Given the description of an element on the screen output the (x, y) to click on. 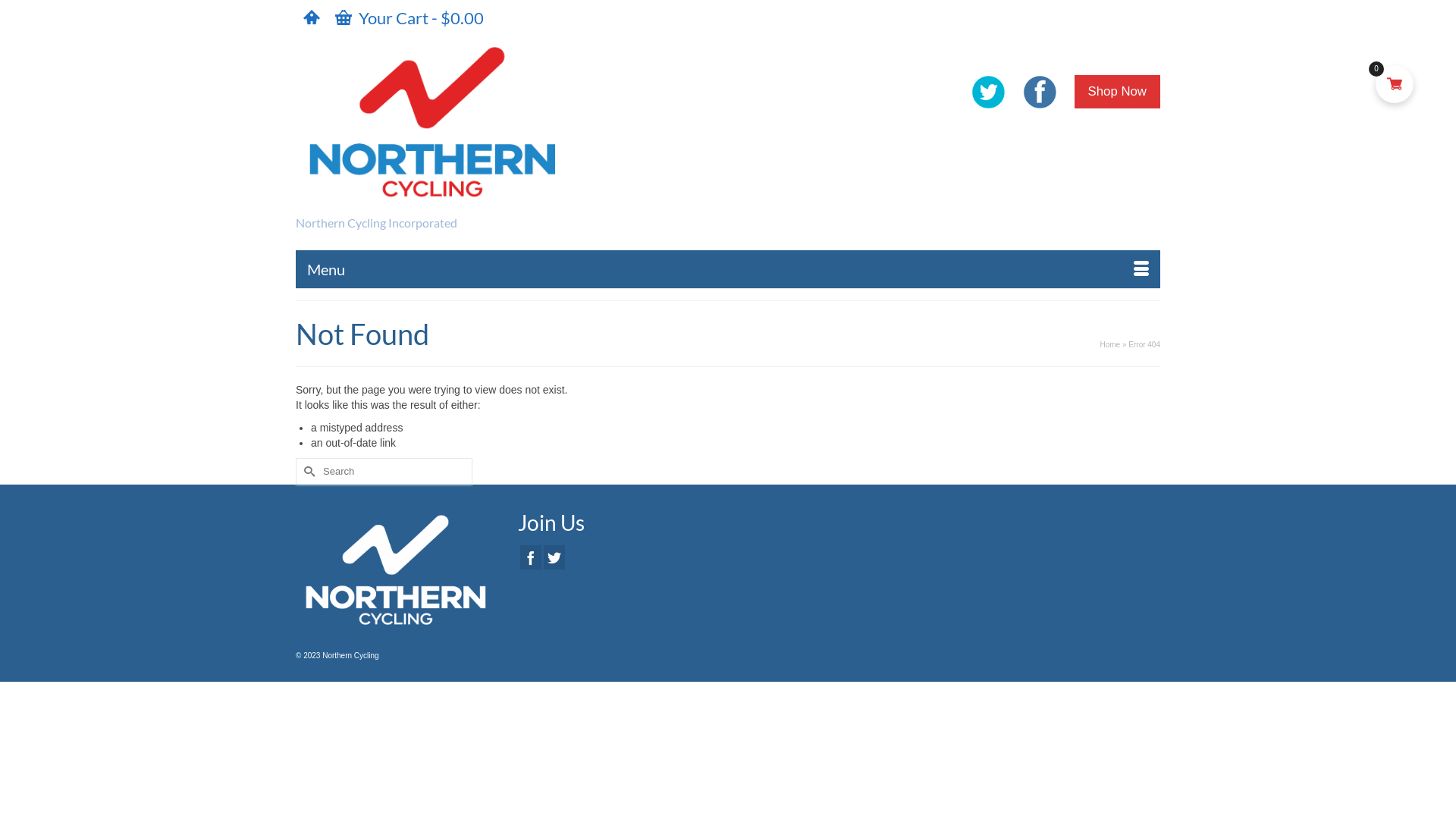
Menu Element type: text (727, 269)
Shop Now Element type: text (1117, 91)
Your Cart - $0.00 Element type: text (409, 18)
Northern Cycling Element type: hover (431, 119)
Home Element type: text (1109, 344)
